Given the description of an element on the screen output the (x, y) to click on. 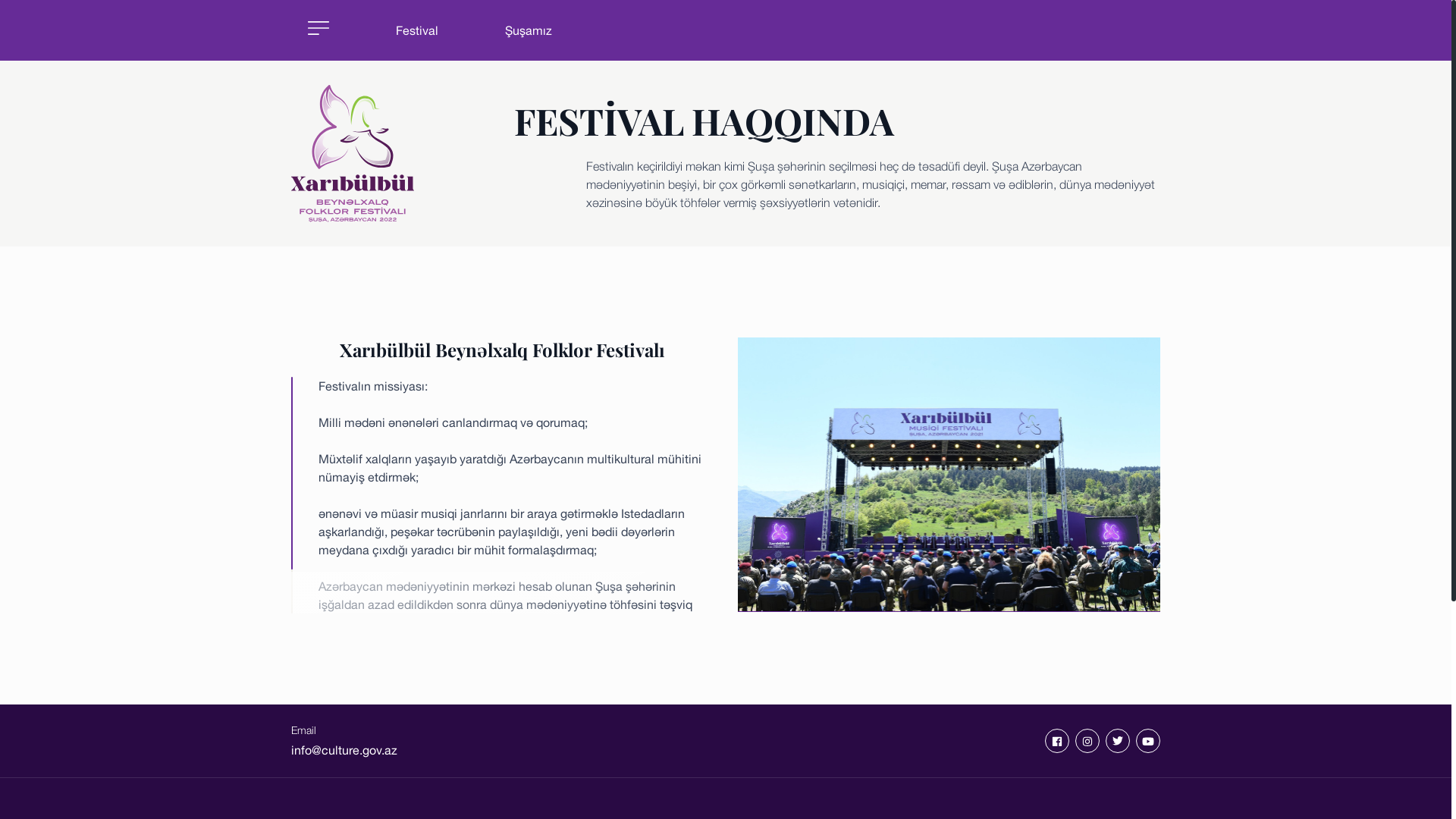
Festival Element type: text (417, 30)
